Given the description of an element on the screen output the (x, y) to click on. 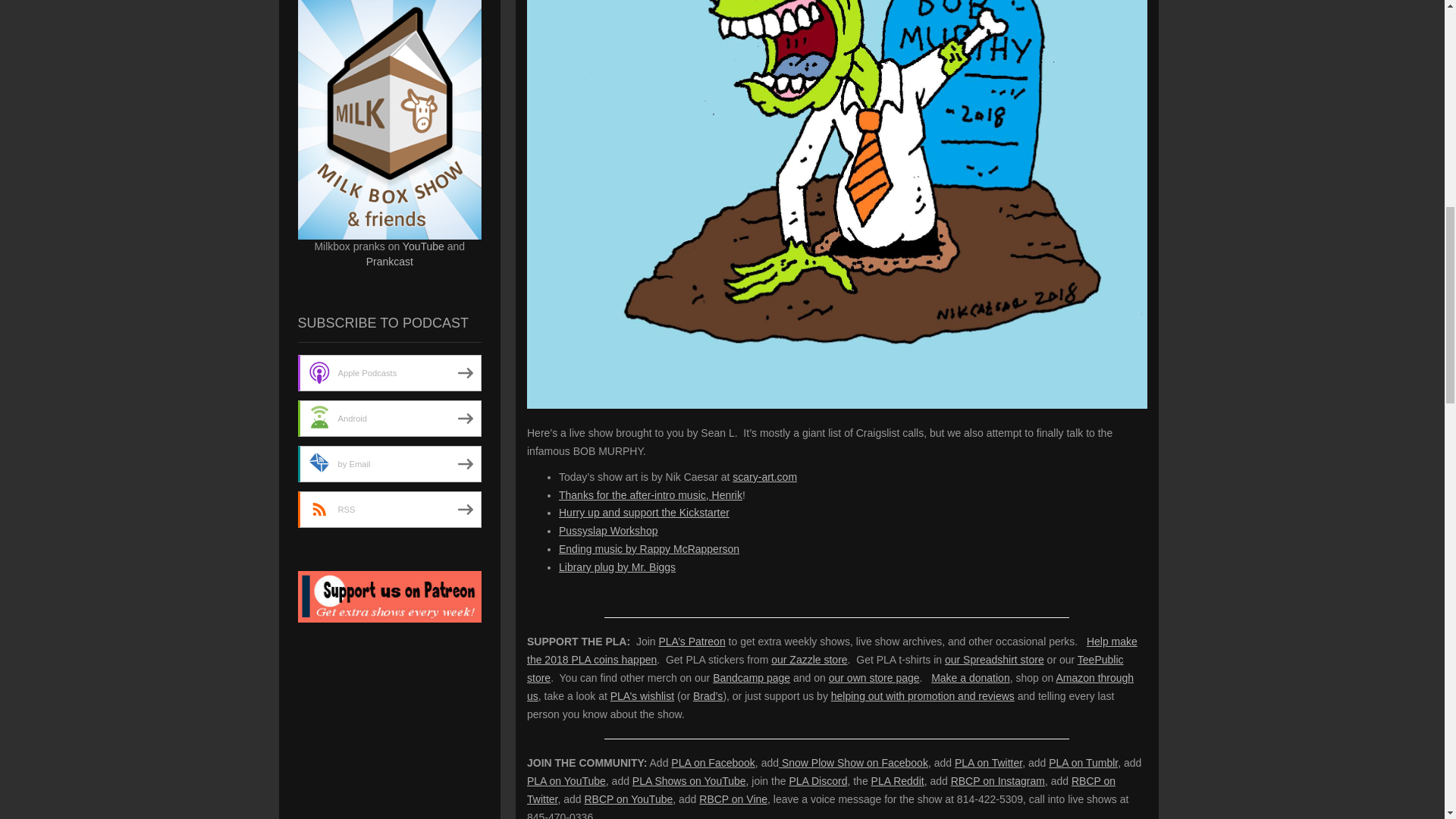
Help make the 2018 PLA coins happen (832, 650)
Bandcamp page (751, 677)
Subscribe by Email (389, 463)
TeePublic store (825, 668)
Hurry up and support the Kickstarter (644, 512)
scary-art.com (764, 476)
Pussyslap Workshop (608, 530)
Amazon through us (830, 686)
helping out with promotion and reviews (922, 695)
Ending music by Rappy McRapperson (649, 548)
our Spreadshirt store (993, 659)
Subscribe on Apple Podcasts (389, 372)
Thanks for the after-intro music, Henrik (650, 494)
our Zazzle store (809, 659)
Make a donation (970, 677)
